Given the description of an element on the screen output the (x, y) to click on. 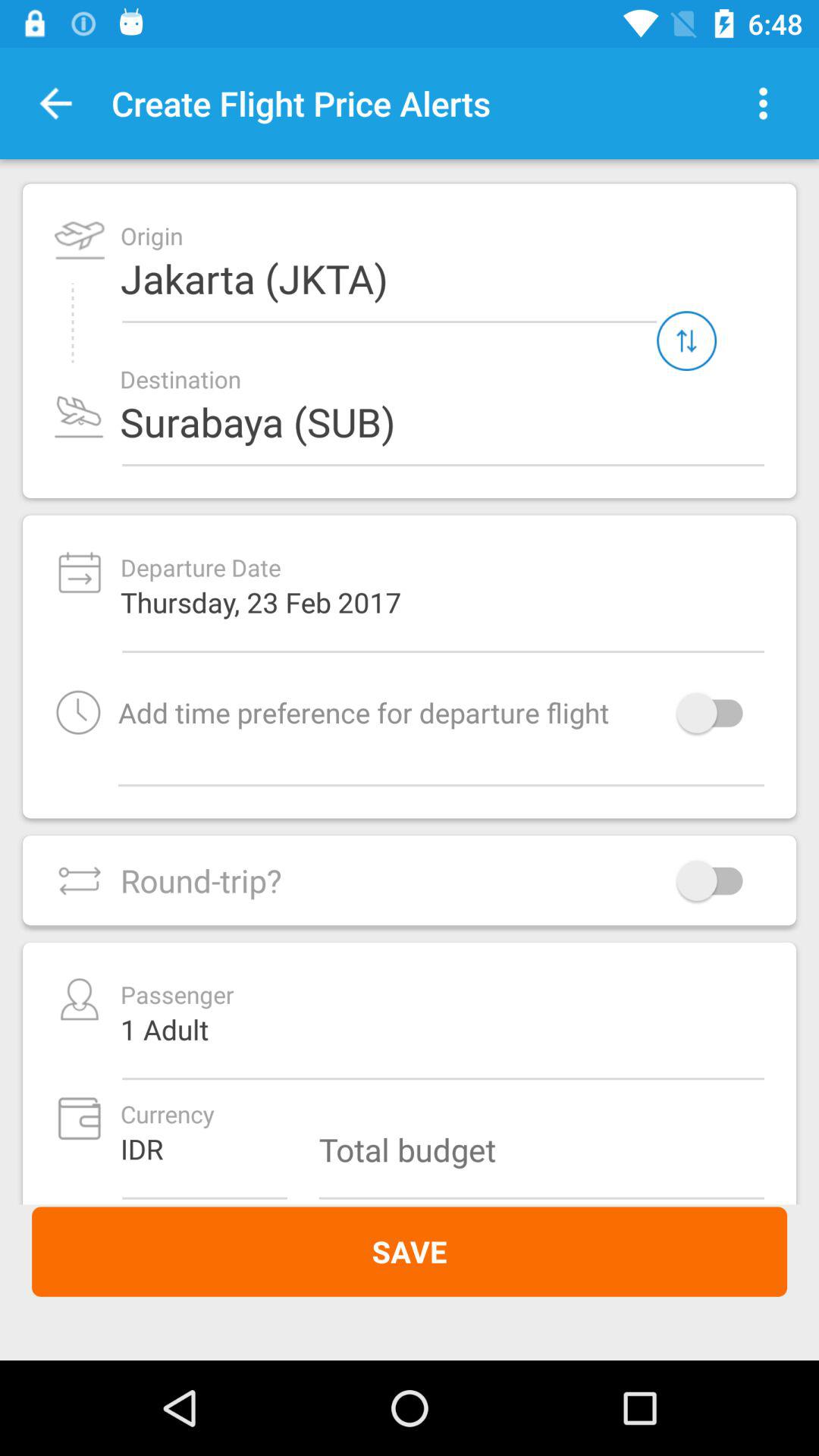
go back (55, 103)
